Given the description of an element on the screen output the (x, y) to click on. 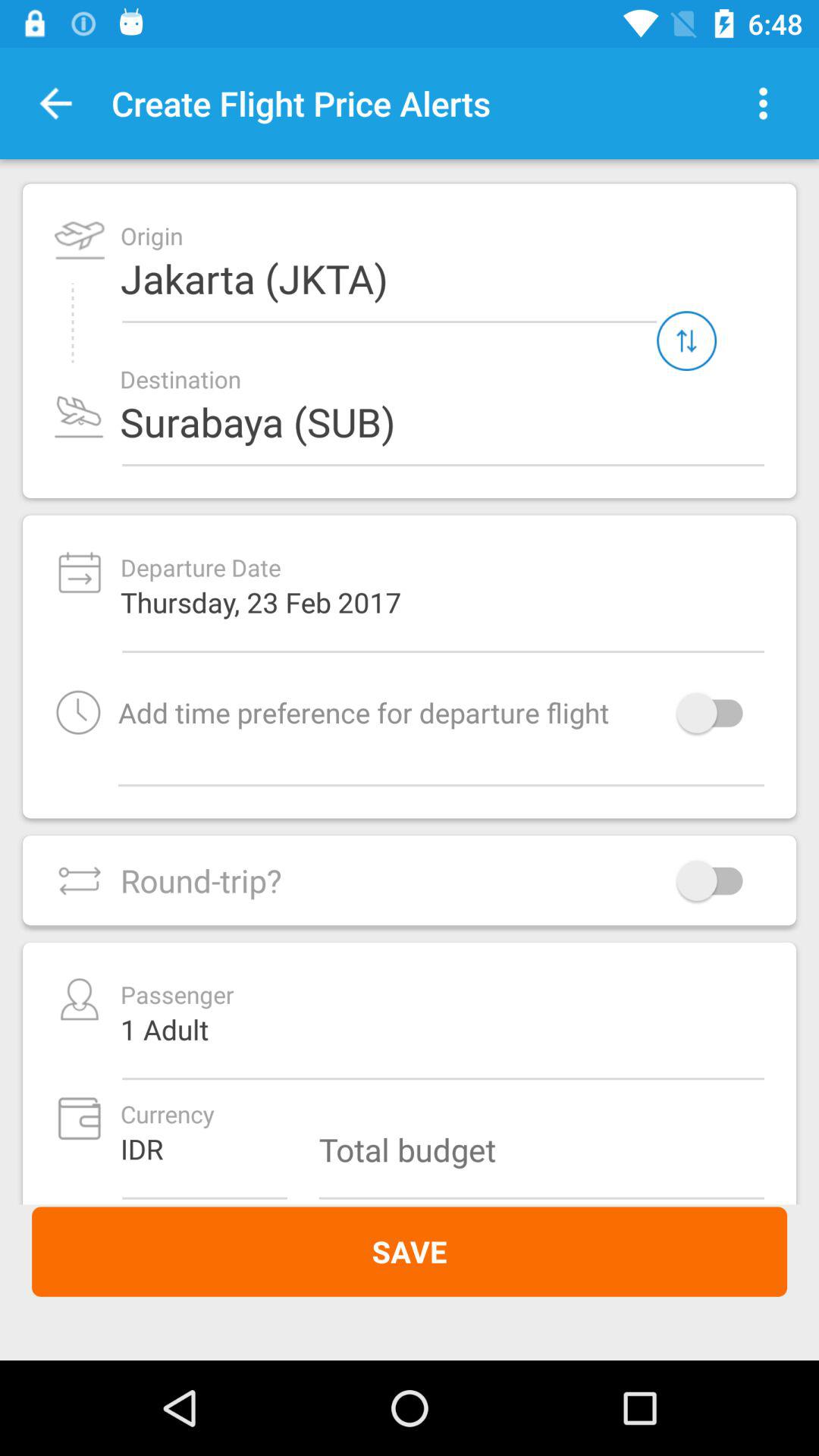
go back (55, 103)
